Given the description of an element on the screen output the (x, y) to click on. 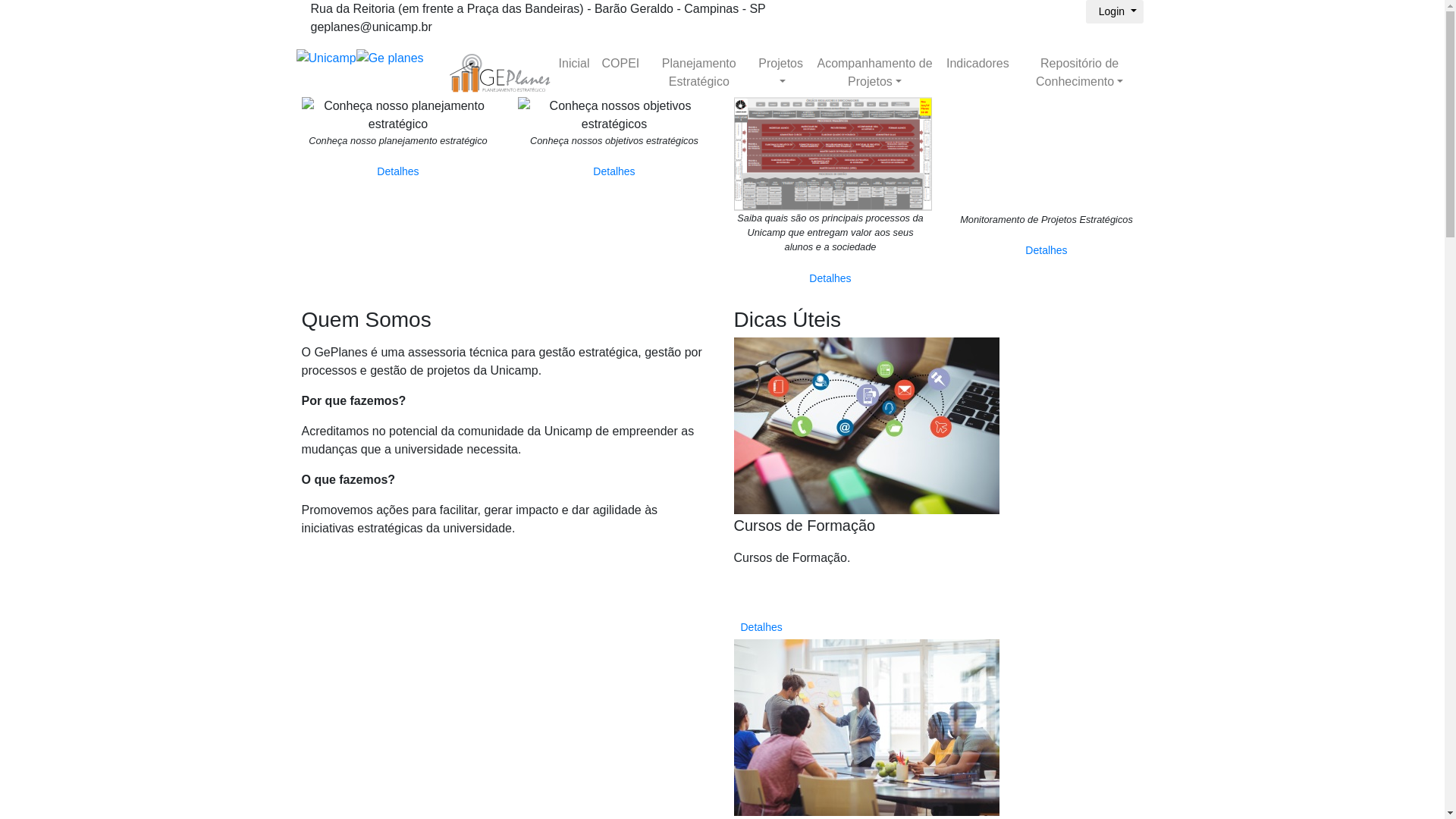
Inicial Element type: text (574, 63)
Detalhes Element type: text (613, 171)
Indicadores Element type: text (977, 63)
Detalhes Element type: text (761, 627)
Detalhes Element type: text (1045, 250)
COPEI Element type: text (620, 63)
Detalhes Element type: text (829, 278)
Detalhes Element type: text (397, 171)
Projetos Element type: text (780, 72)
Acompanhamento de Projetos Element type: text (874, 72)
Login Element type: text (1114, 11)
